Given the description of an element on the screen output the (x, y) to click on. 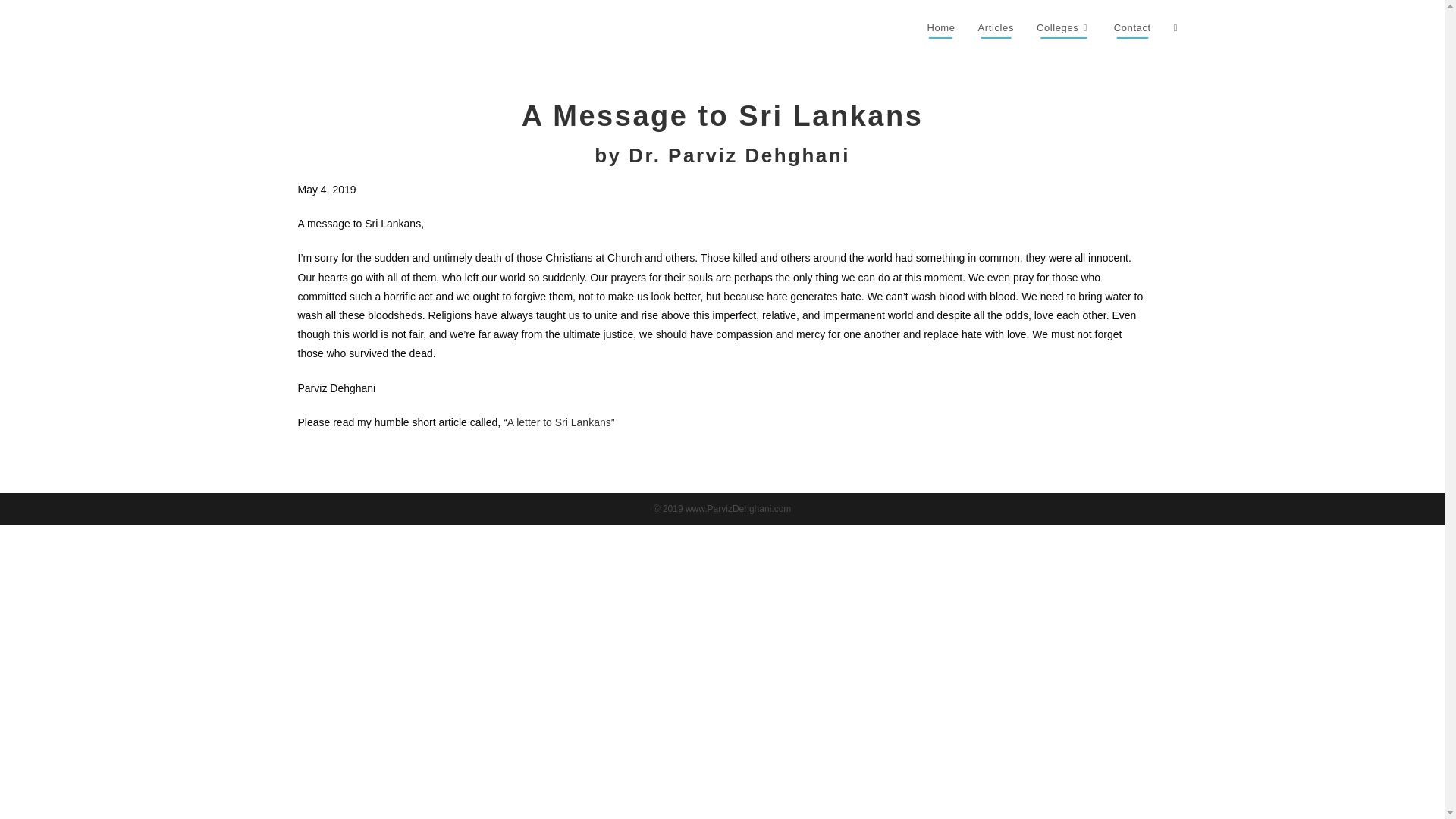
Home (940, 28)
A letter to Sri Lankans (558, 422)
Articles (995, 28)
Contact (1131, 28)
Colleges (1063, 28)
